Given the description of an element on the screen output the (x, y) to click on. 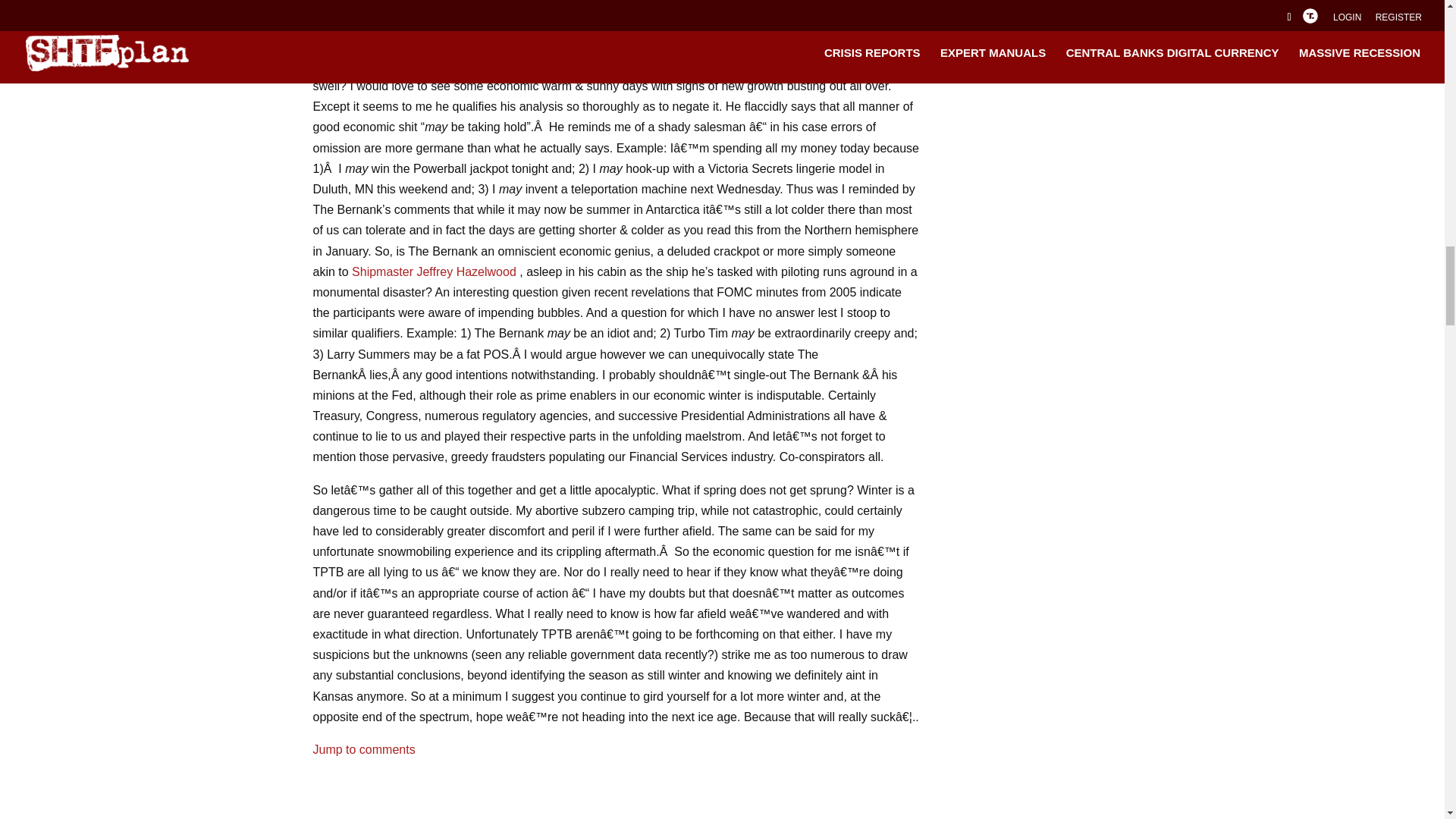
Punxsutawney Phil (425, 65)
Jump to comments (363, 748)
Shipmaster Jeffrey Hazelwood (434, 271)
